Given the description of an element on the screen output the (x, y) to click on. 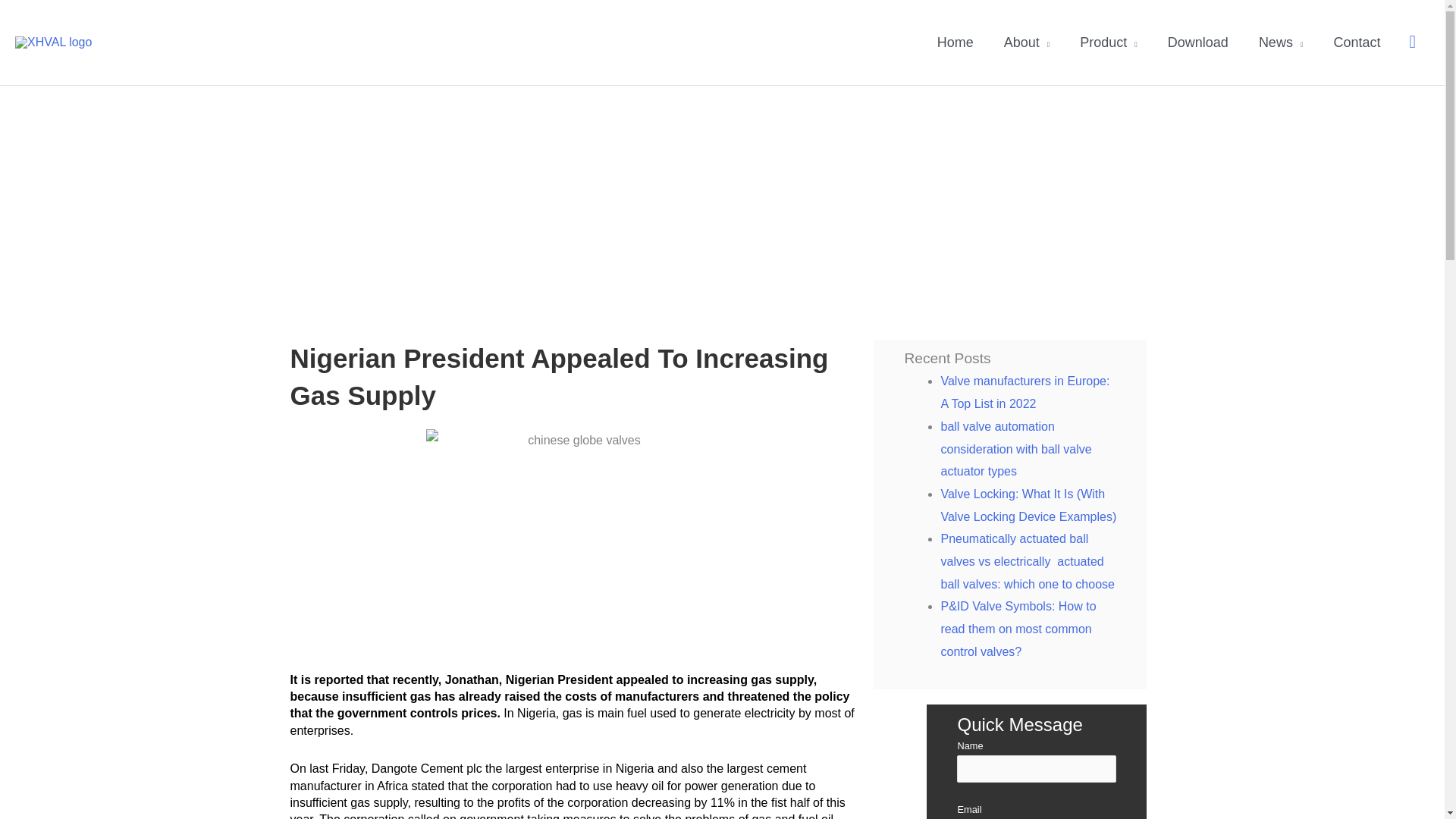
Search (1412, 41)
Product (1108, 42)
News (1281, 42)
Contact (1355, 42)
About (1026, 42)
Download (1198, 42)
Home (954, 42)
